Given the description of an element on the screen output the (x, y) to click on. 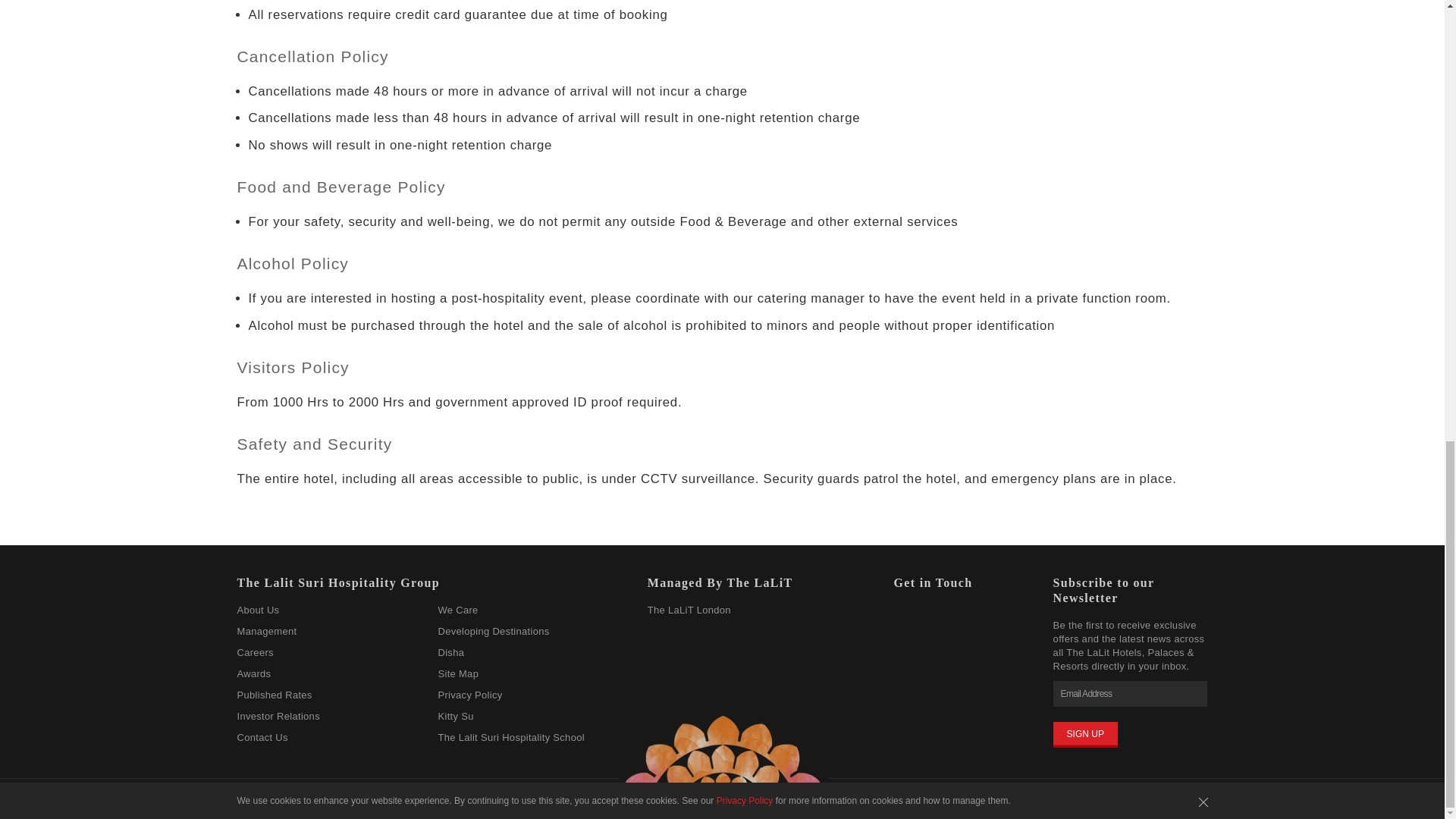
Published Rates (273, 695)
Management (266, 631)
Developing Destinations (493, 631)
Careers (254, 652)
Awards (252, 673)
Investor Relations (276, 715)
We Care (457, 609)
Contact Us (260, 737)
About Us (257, 609)
